Given the description of an element on the screen output the (x, y) to click on. 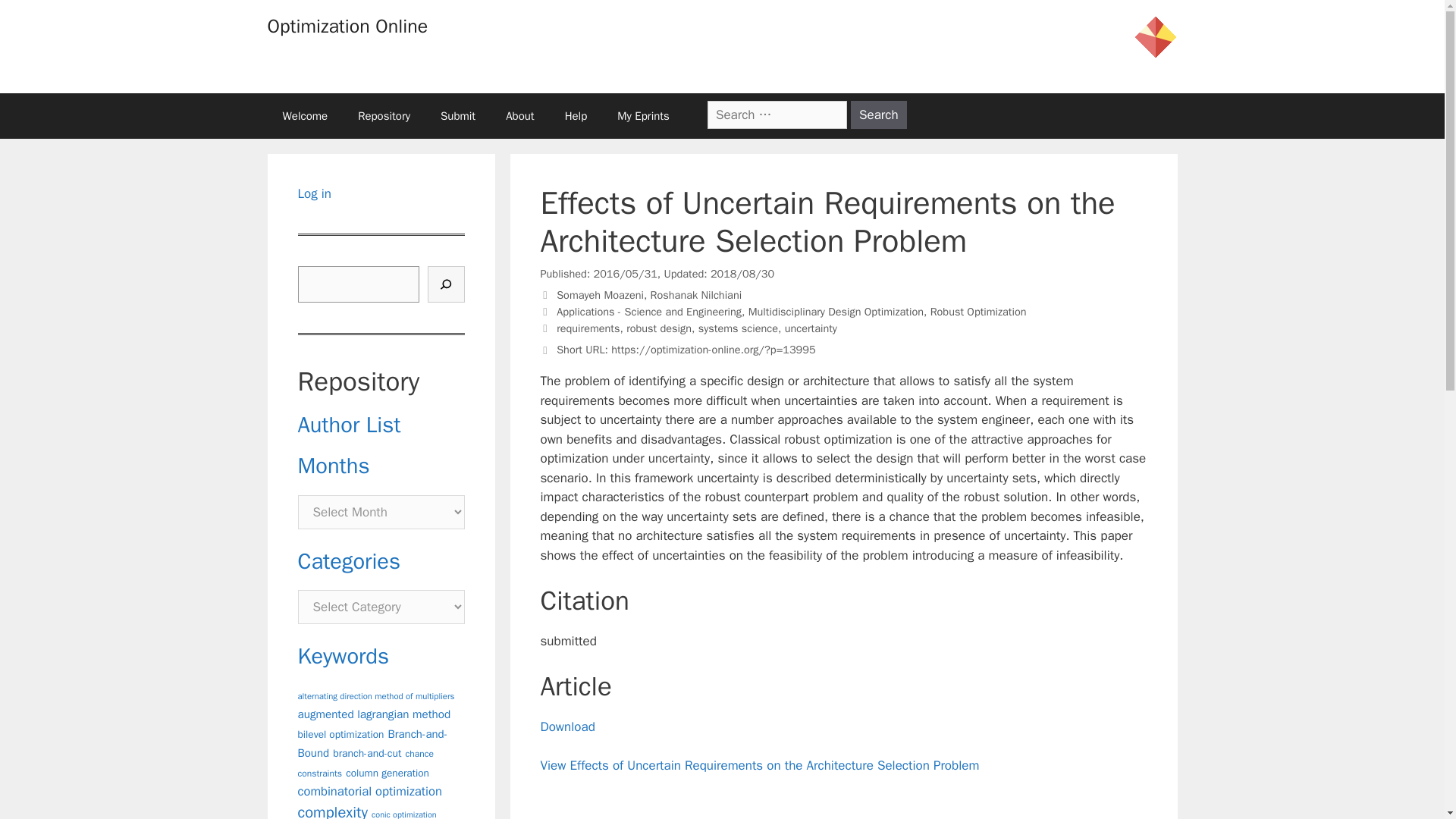
Robust Optimization (978, 311)
Keywords (342, 656)
Search (878, 113)
Somayeh Moazeni (599, 295)
column generation (387, 772)
Roshanak Nilchiani (696, 295)
Author List (348, 424)
uncertainty (810, 327)
conic optimization (403, 814)
